Given the description of an element on the screen output the (x, y) to click on. 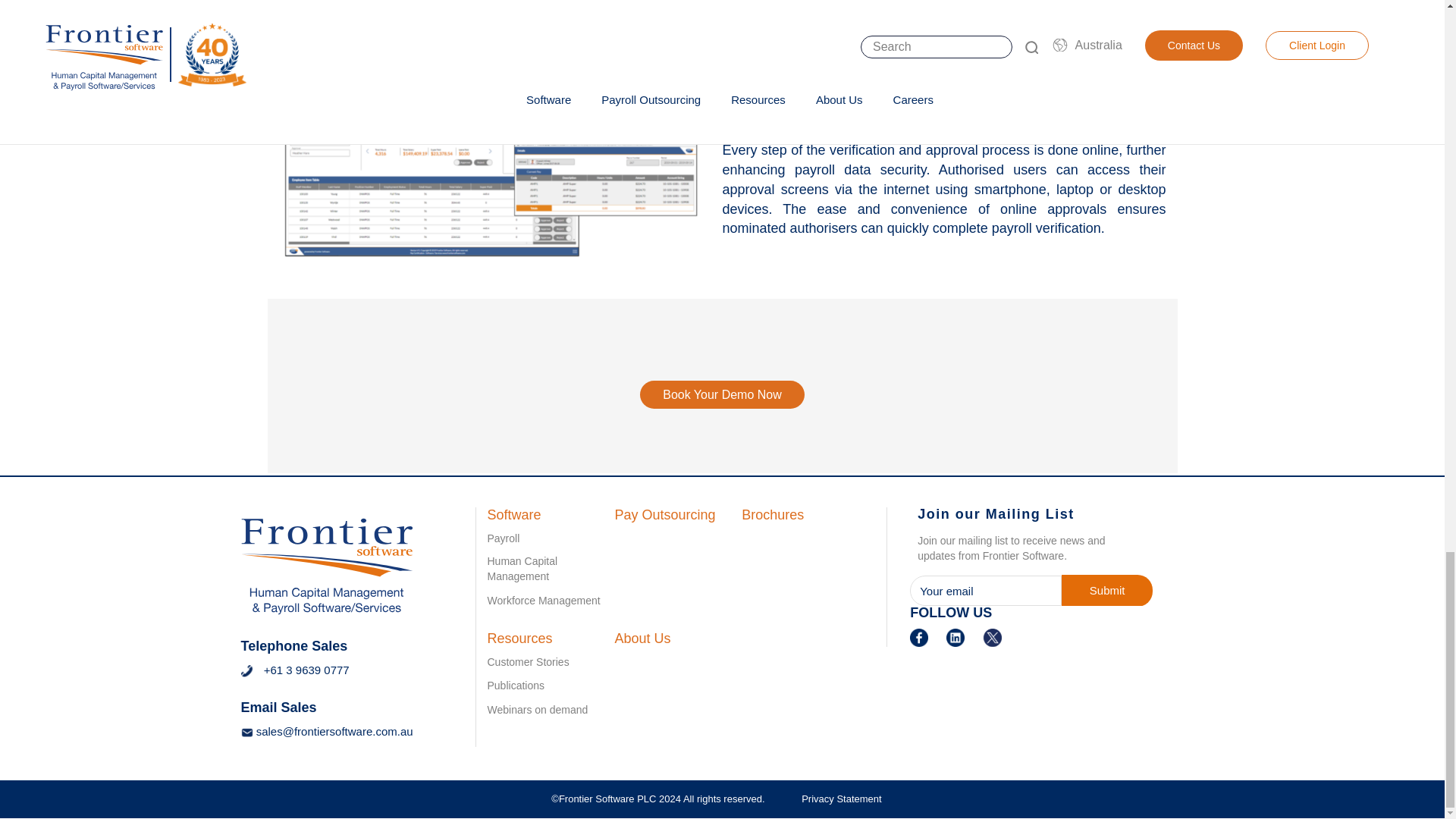
Follow us on LinkedIn (954, 635)
Follow us on Facebook (919, 635)
Follow us on Twitter (991, 635)
